Given the description of an element on the screen output the (x, y) to click on. 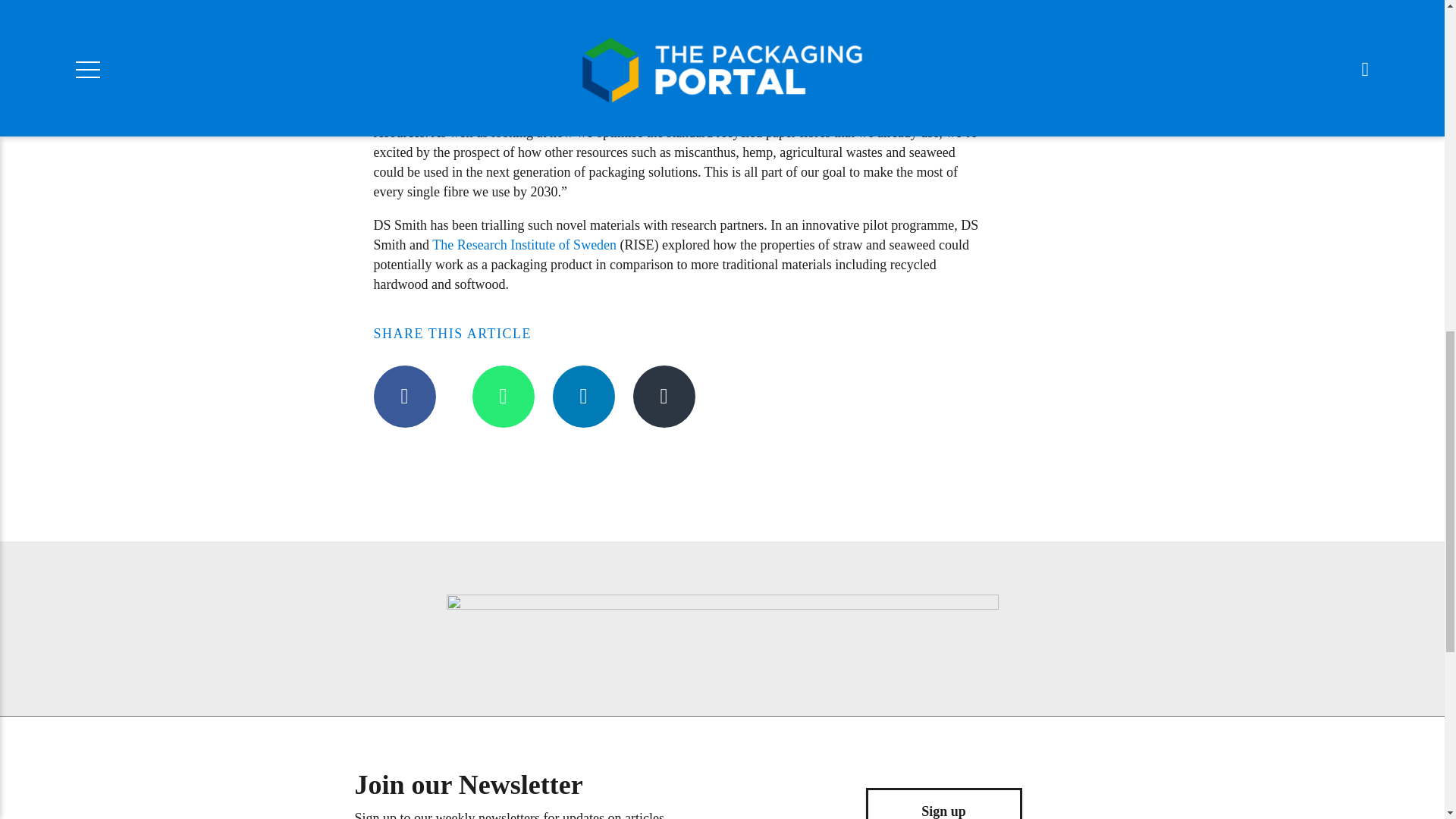
Share on Whatsapp (502, 396)
Share on Facebook (403, 396)
Send link to friend (662, 396)
The Research Institute of Sweden (523, 244)
Sign up (944, 803)
Share on LinkedIn (582, 396)
